Given the description of an element on the screen output the (x, y) to click on. 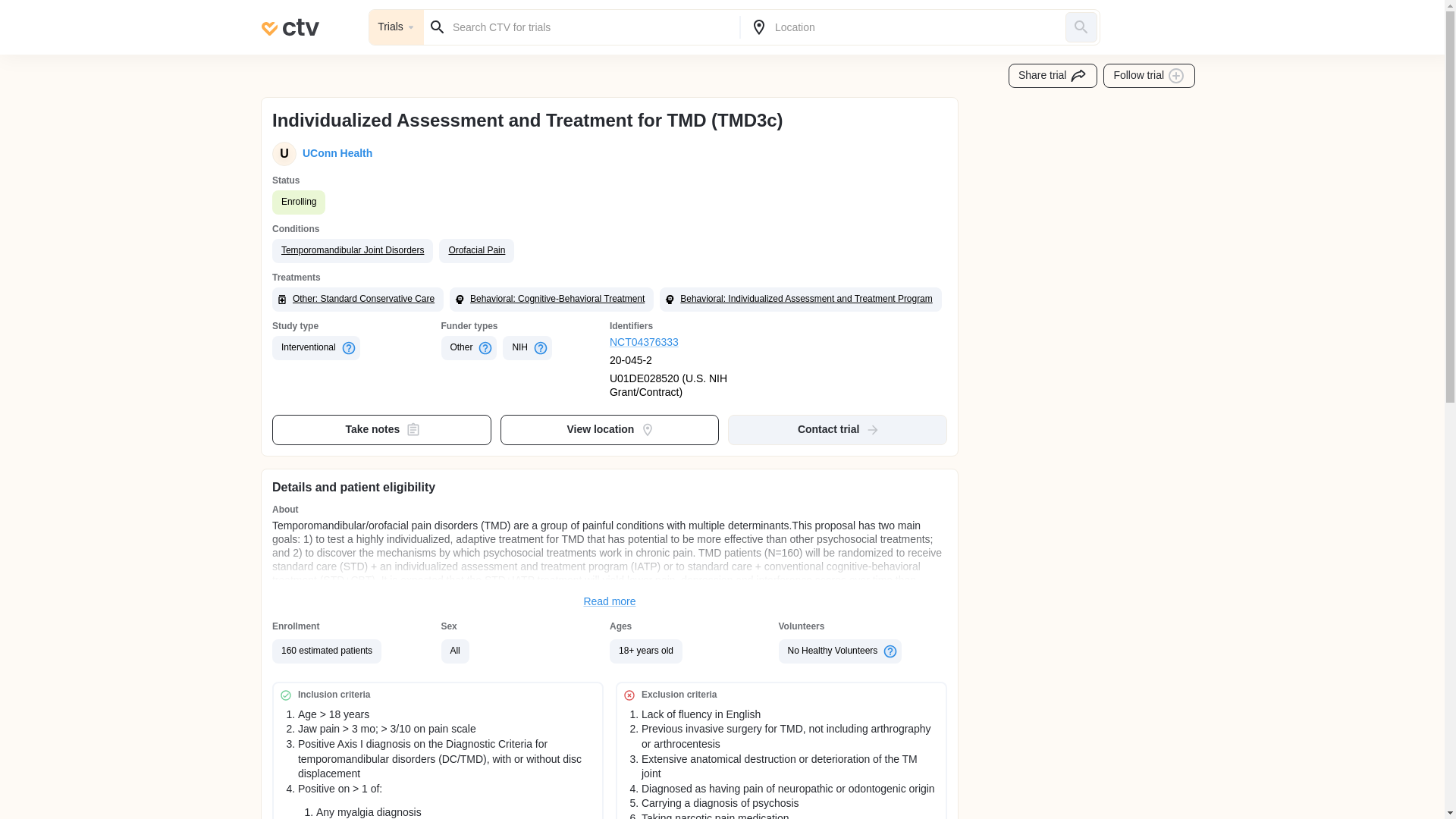
View location (609, 429)
Follow trial (1149, 75)
Share trial (1053, 75)
Trials (396, 27)
Contact trial (837, 429)
NCT04376333 (694, 342)
Take notes (382, 429)
UConn Health (334, 153)
Read more (609, 602)
